Given the description of an element on the screen output the (x, y) to click on. 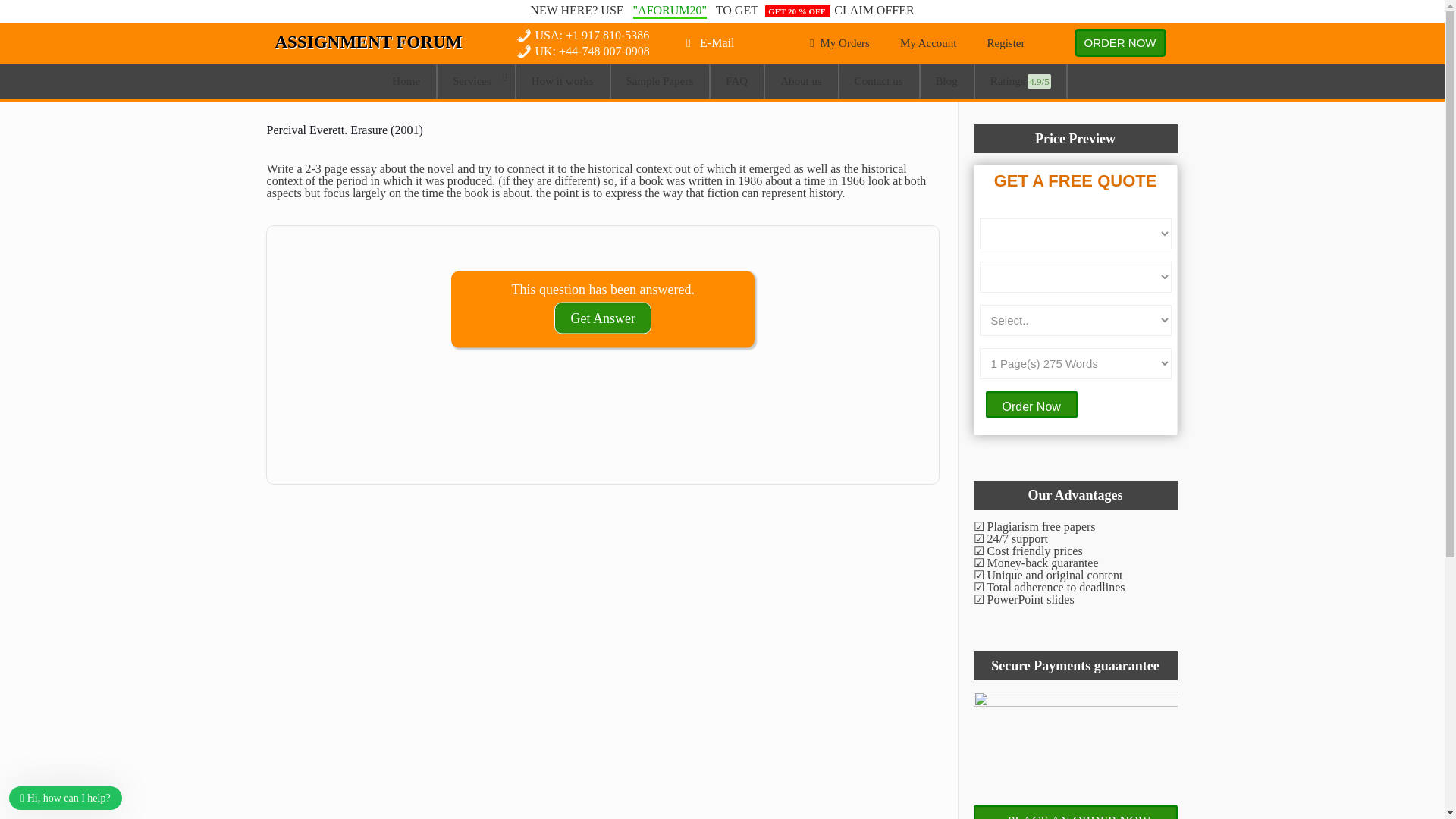
ASSIGNMENT FORUM (368, 41)
My Orders (837, 43)
Services (476, 81)
Register (1006, 43)
Home (406, 81)
Sample Papers (660, 81)
Contact us (879, 81)
FAQ (736, 81)
My Account (928, 43)
How it works (563, 81)
